Given the description of an element on the screen output the (x, y) to click on. 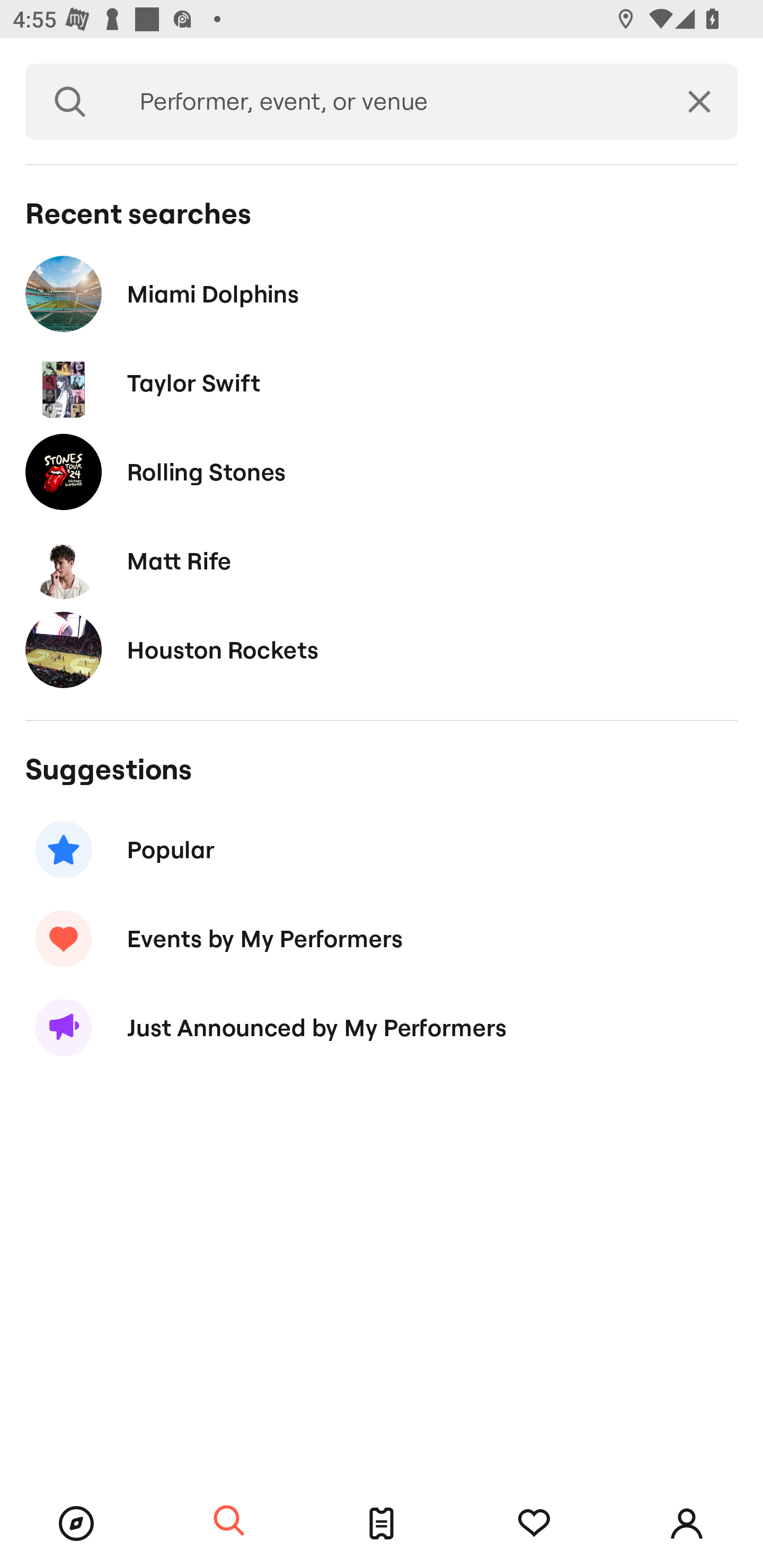
Search (69, 101)
Performer, event, or venue (387, 101)
Clear (699, 101)
Miami Dolphins (381, 293)
Taylor Swift (381, 383)
Rolling Stones (381, 471)
Matt Rife (381, 560)
Houston Rockets (381, 649)
Popular (381, 849)
Events by My Performers (381, 938)
Just Announced by My Performers (381, 1027)
Browse (76, 1523)
Search (228, 1521)
Tickets (381, 1523)
Tracking (533, 1523)
Account (686, 1523)
